Given the description of an element on the screen output the (x, y) to click on. 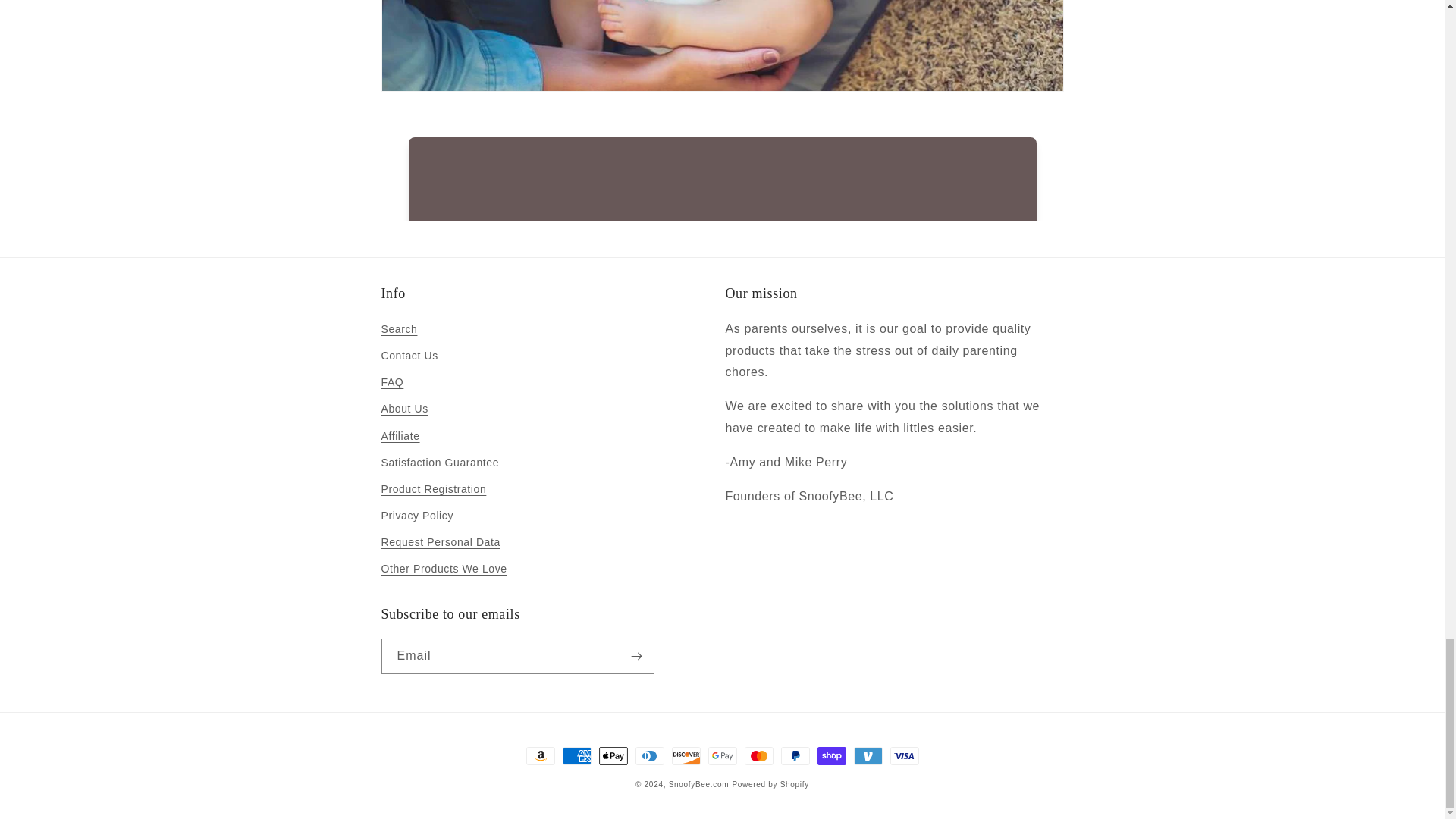
Affiliate (399, 436)
Satisfaction Guarantee (439, 462)
Search (398, 331)
Carousel cards reviews widget (721, 163)
Contact Us (409, 356)
About Us (404, 408)
